Given the description of an element on the screen output the (x, y) to click on. 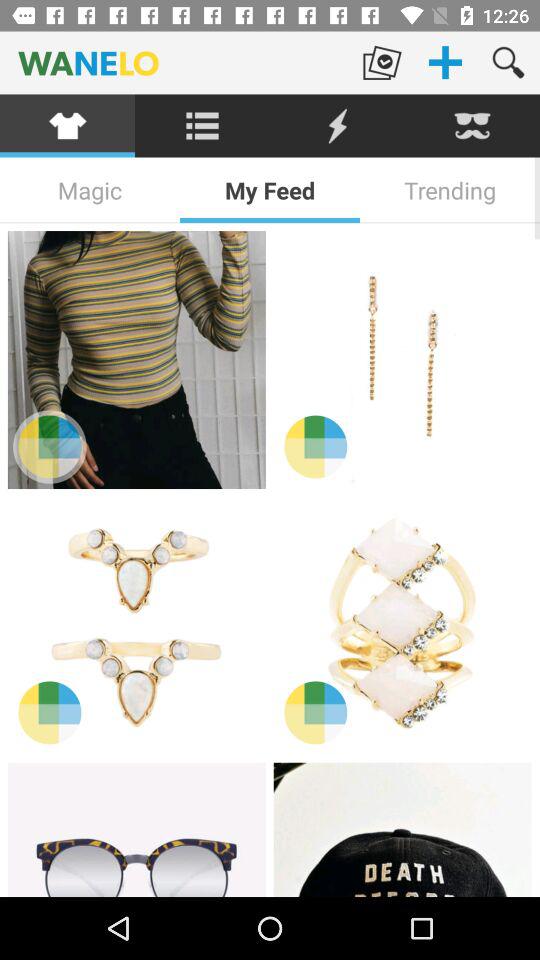
view item (402, 360)
